Given the description of an element on the screen output the (x, y) to click on. 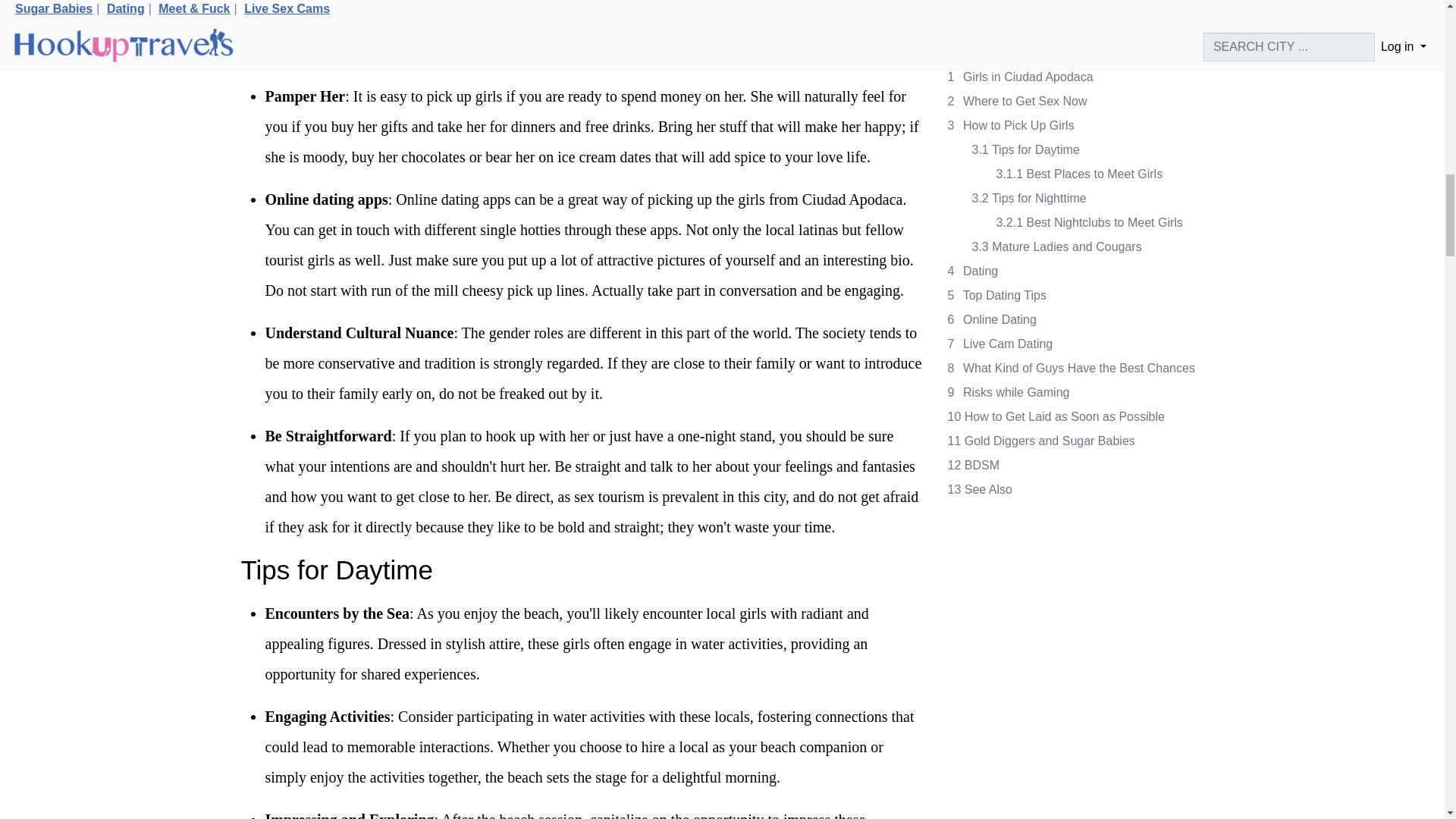
See Girls Online Here! (577, 6)
